Given the description of an element on the screen output the (x, y) to click on. 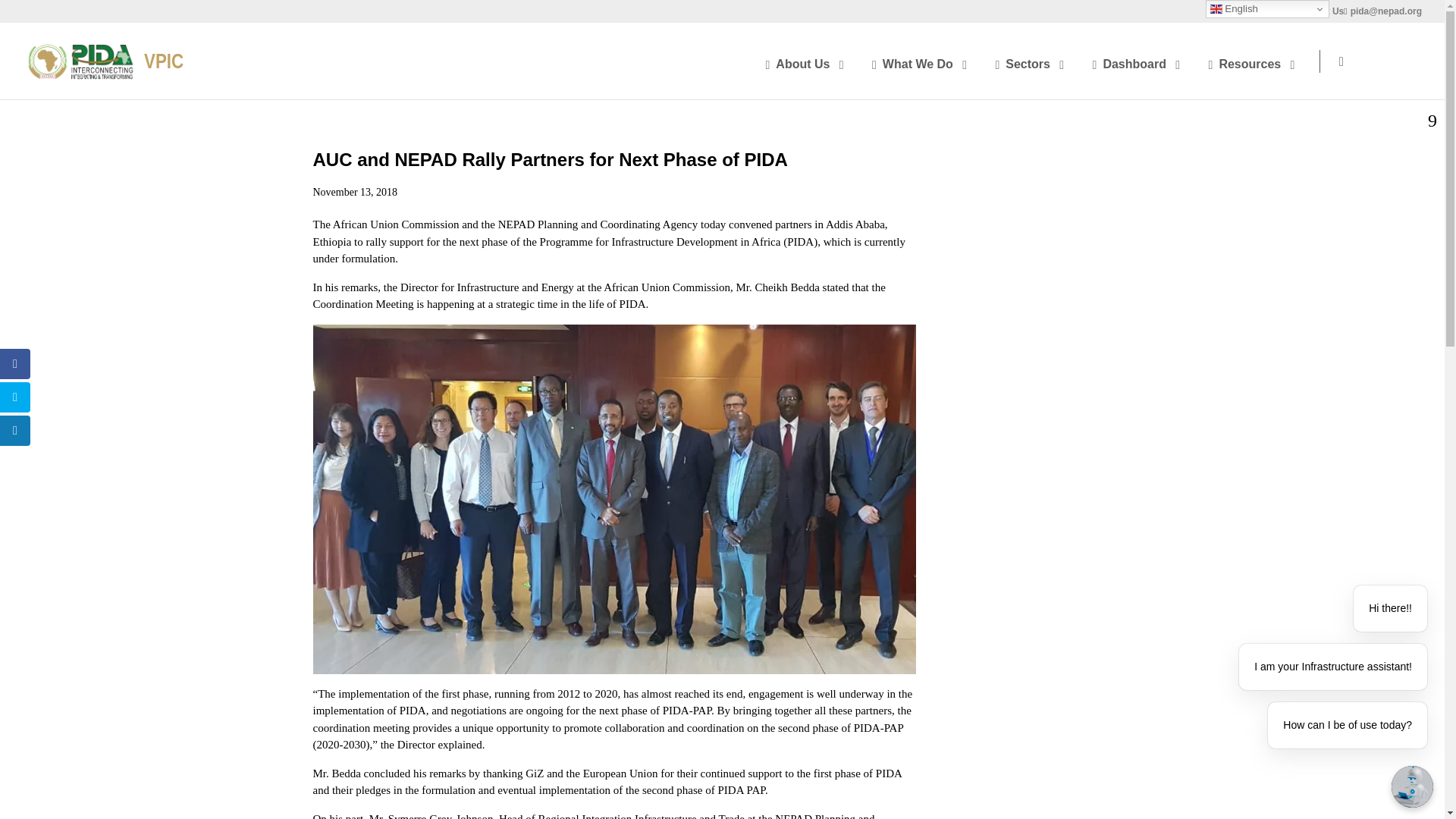
Dashboard (1139, 61)
About Us (807, 61)
VPIC (104, 60)
Sectors (1031, 61)
What We Do (922, 61)
Resources (1254, 61)
Contact Us (1319, 14)
